Given the description of an element on the screen output the (x, y) to click on. 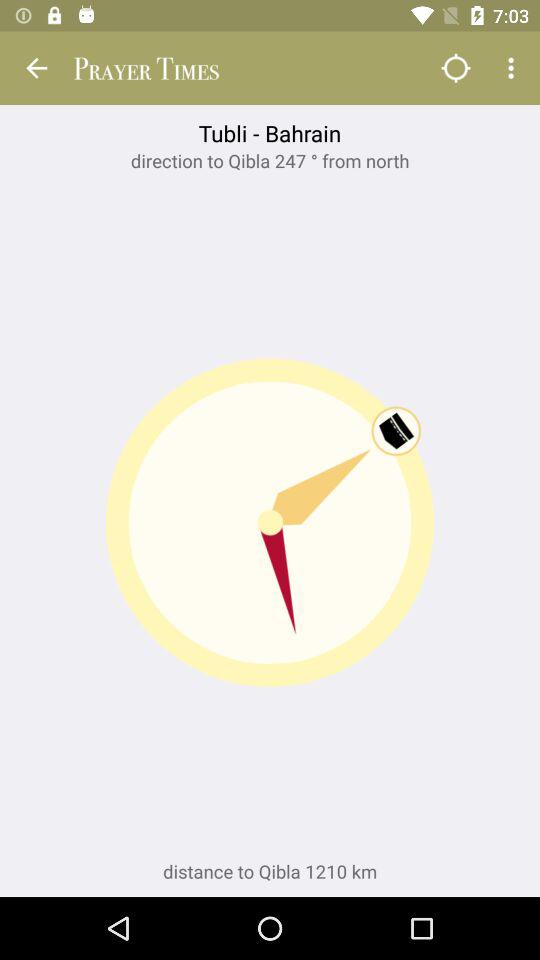
press icon above tubli - bahrain icon (513, 67)
